Given the description of an element on the screen output the (x, y) to click on. 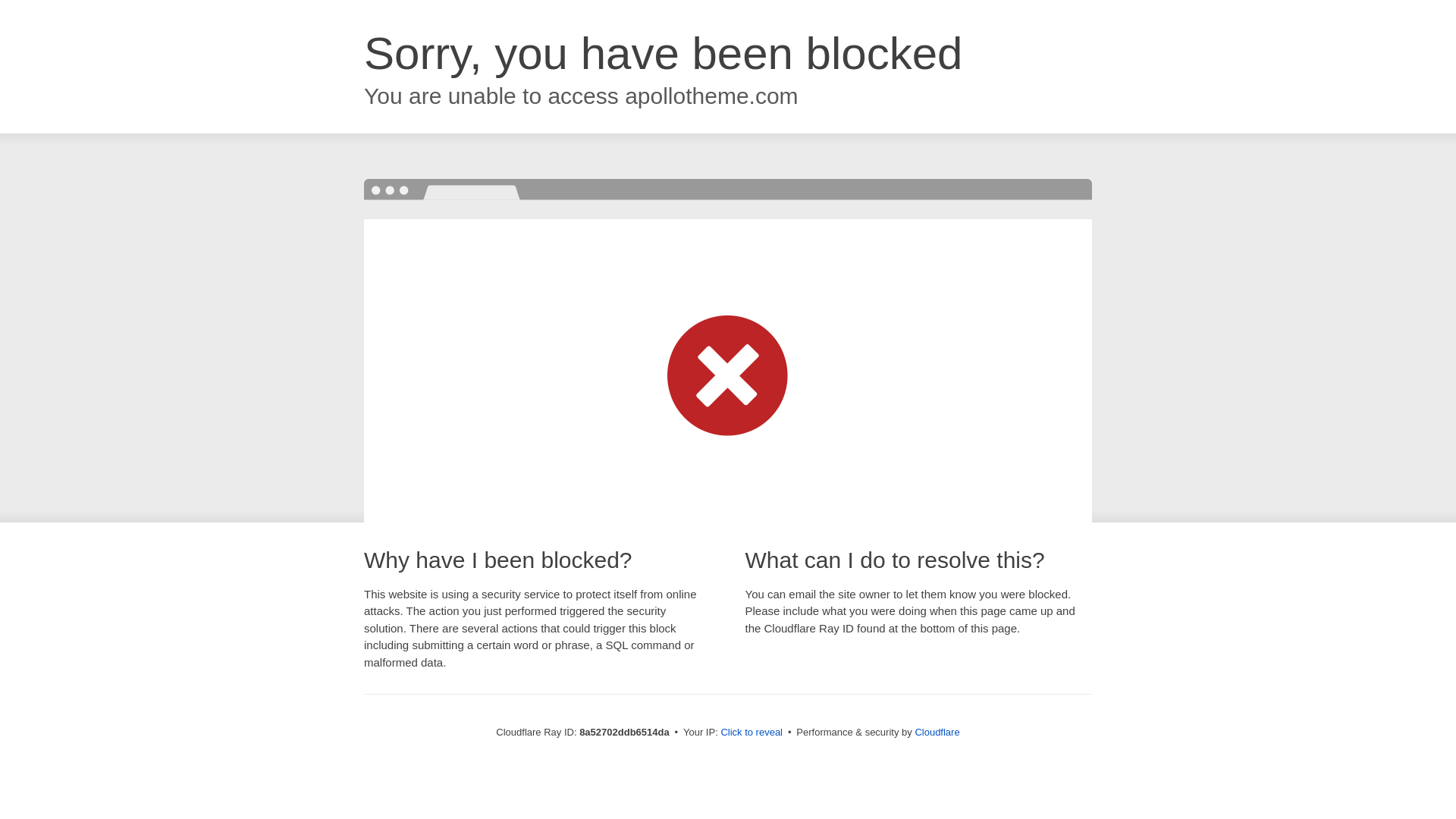
Cloudflare (936, 731)
Click to reveal (751, 732)
